Given the description of an element on the screen output the (x, y) to click on. 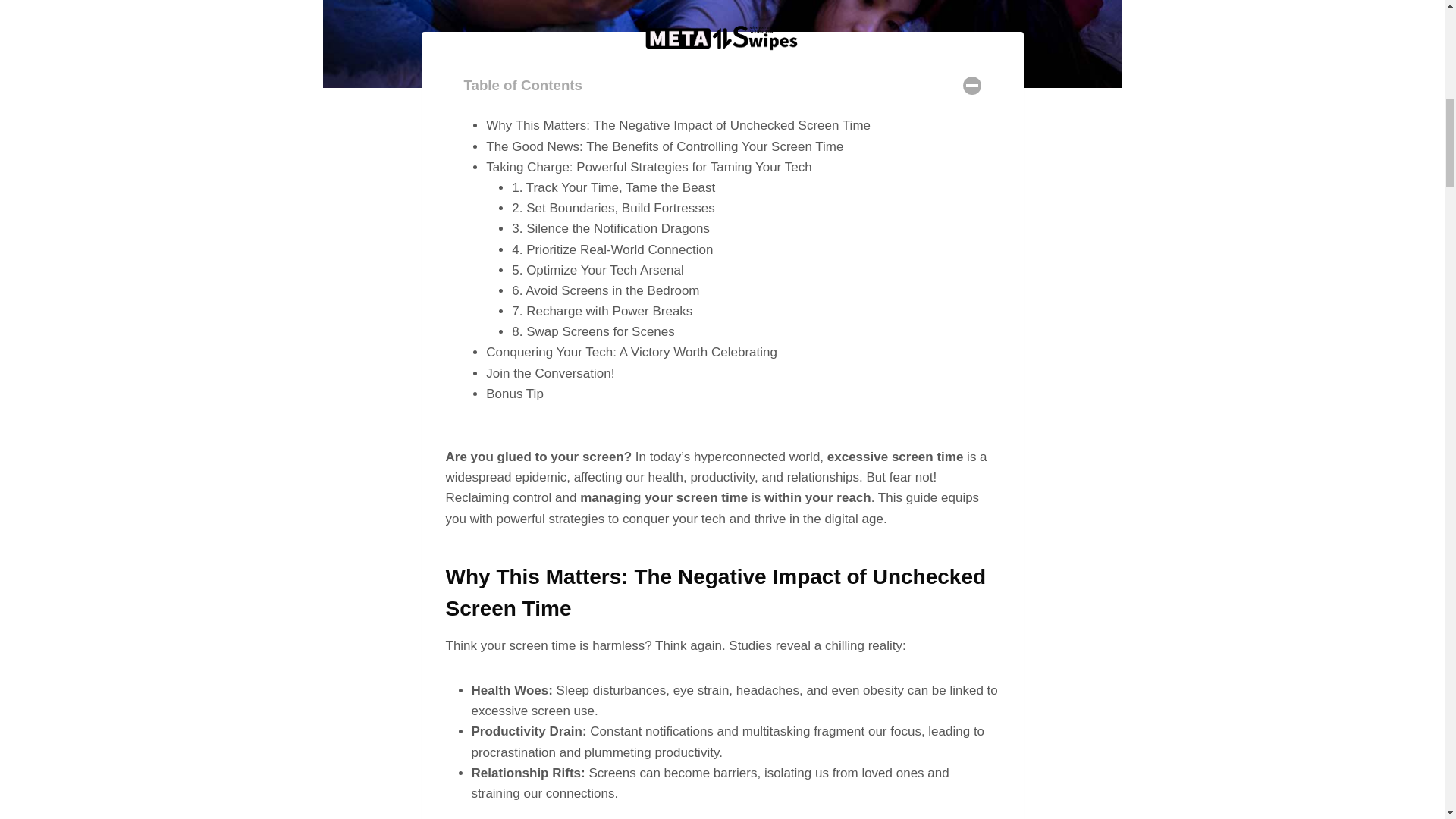
8. Swap Screens for Scenes (593, 331)
3. Silence the Notification Dragons (611, 228)
2. Set Boundaries, Build Fortresses (613, 207)
Conquering Your Tech: A Victory Worth Celebrating (631, 351)
5. Optimize Your Tech Arsenal (598, 269)
Bonus Tip (514, 393)
6. Avoid Screens in the Bedroom (605, 290)
7. Recharge with Power Breaks (602, 310)
Join the Conversation! (550, 373)
